Given the description of an element on the screen output the (x, y) to click on. 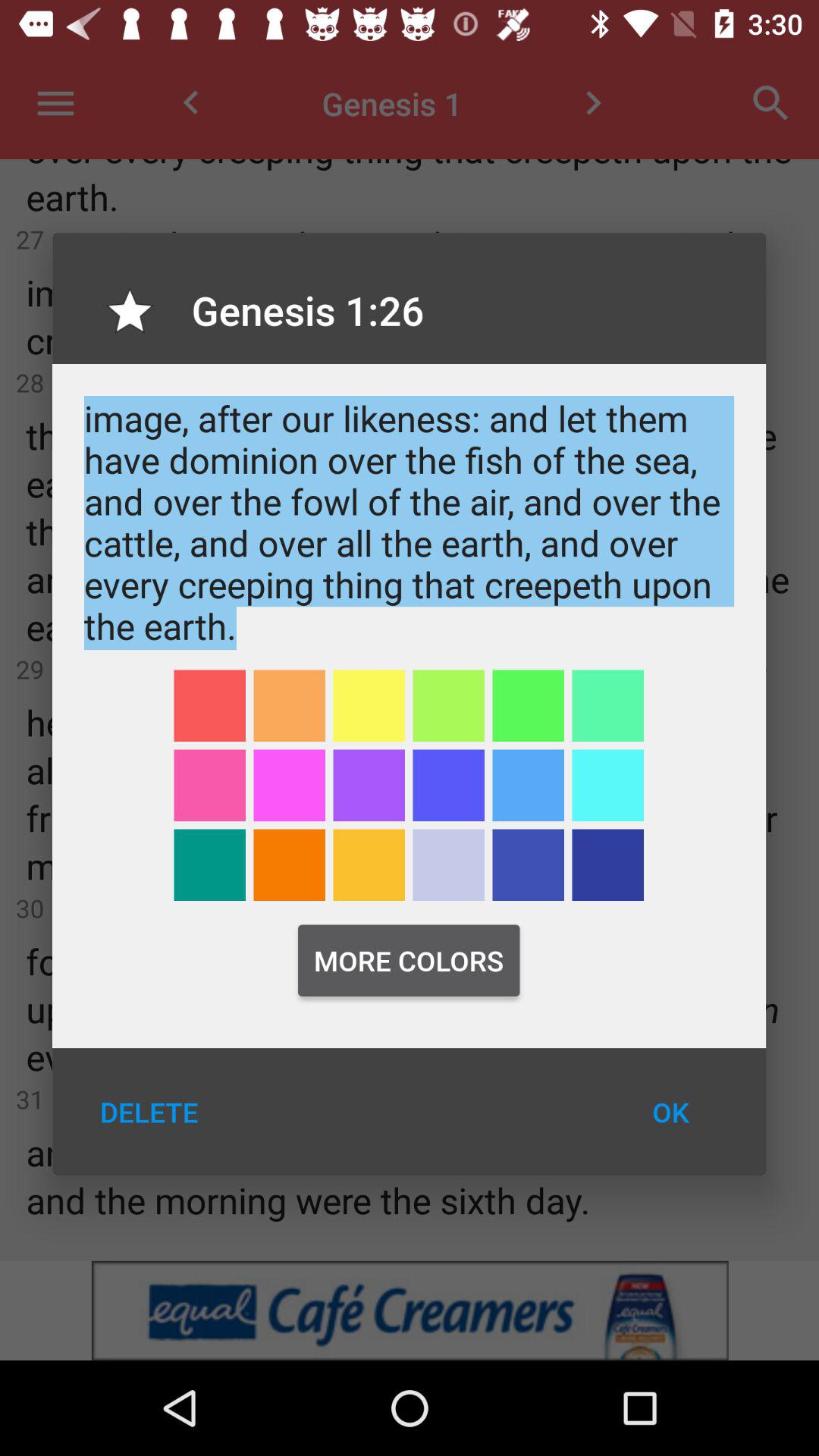
select yellow (368, 705)
